Given the description of an element on the screen output the (x, y) to click on. 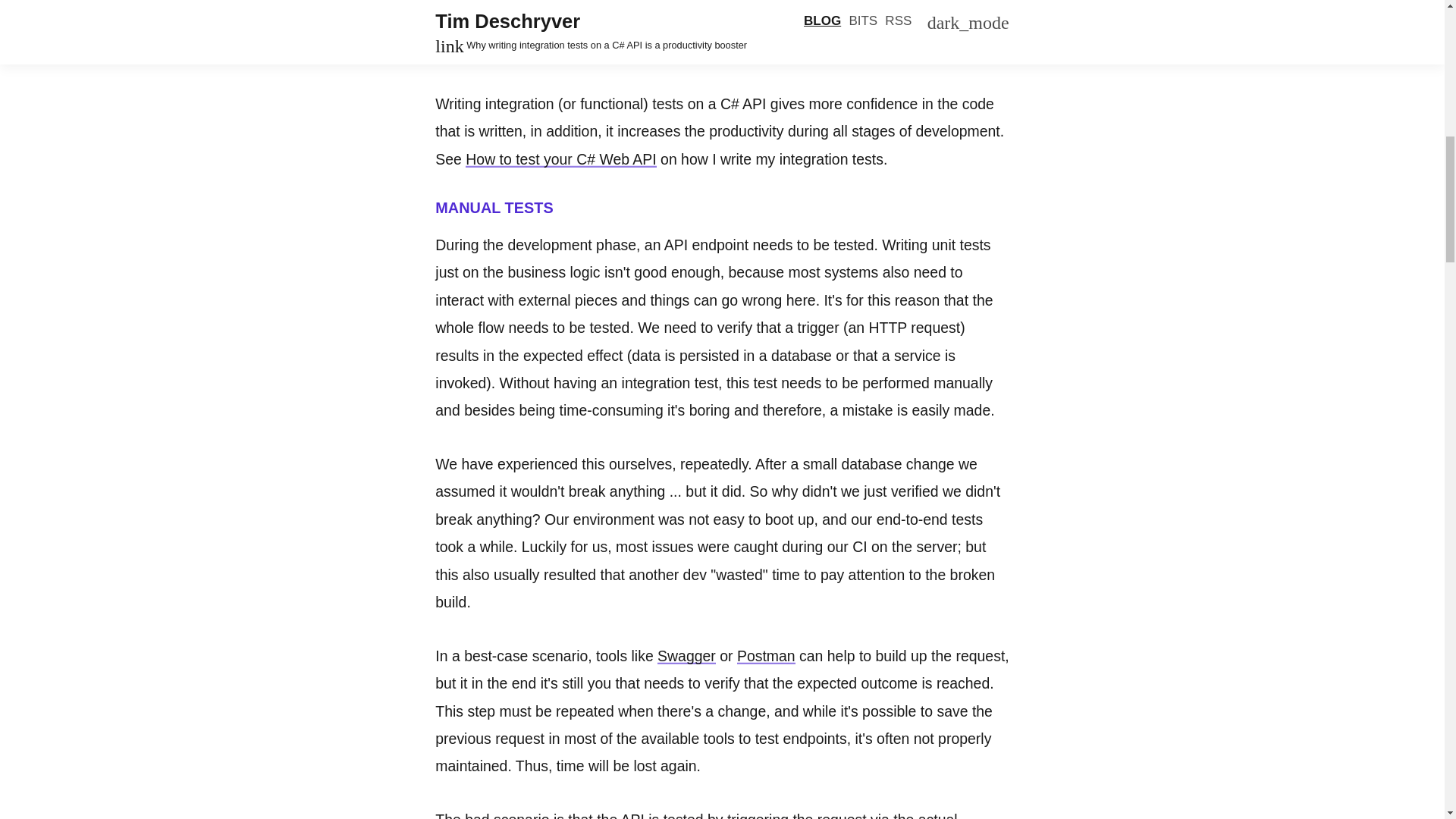
Postman (765, 655)
Swagger (687, 655)
MANUAL TESTS (494, 207)
